Given the description of an element on the screen output the (x, y) to click on. 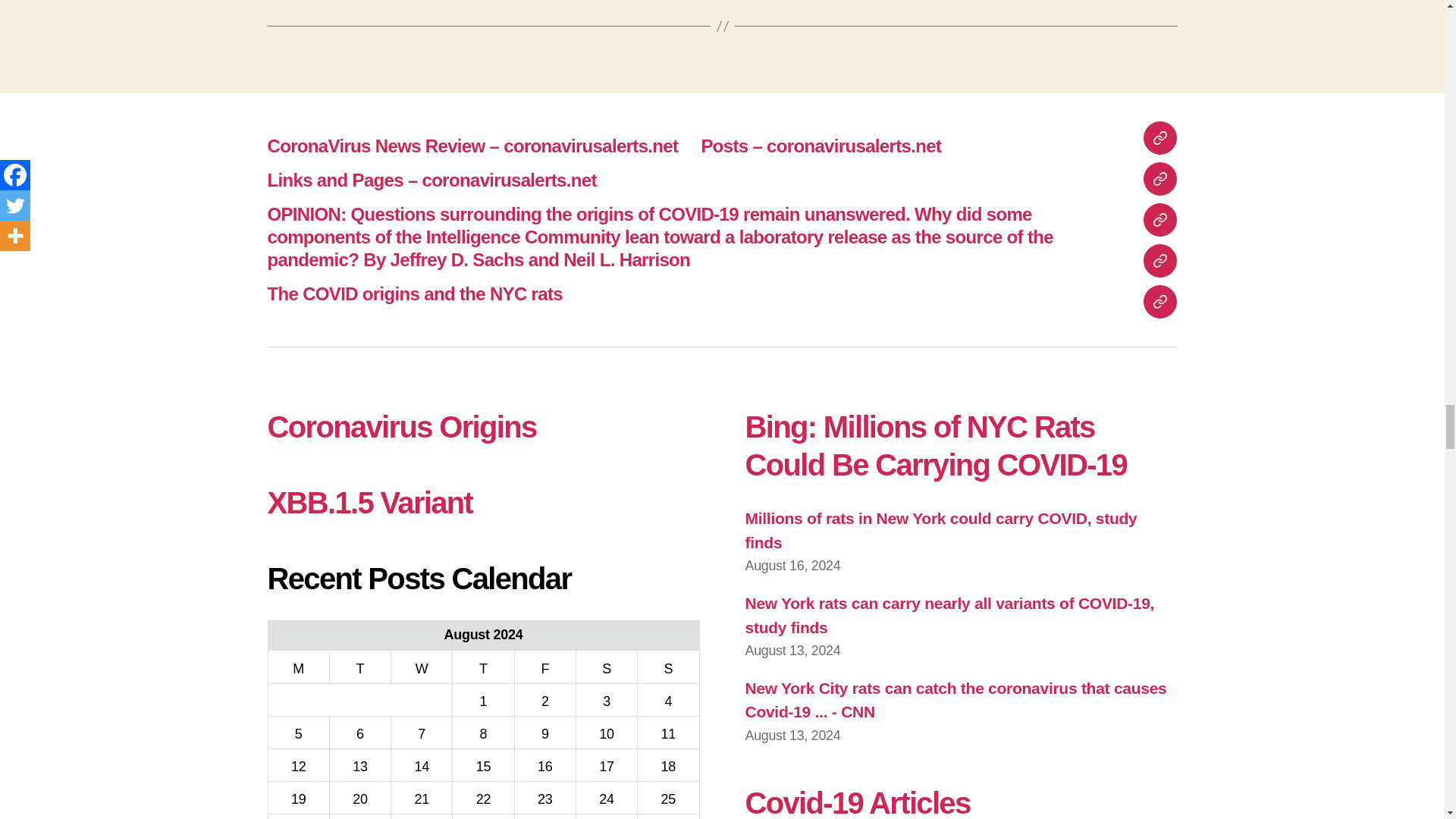
Tuesday (359, 666)
Wednesday (421, 666)
Monday (298, 666)
